Given the description of an element on the screen output the (x, y) to click on. 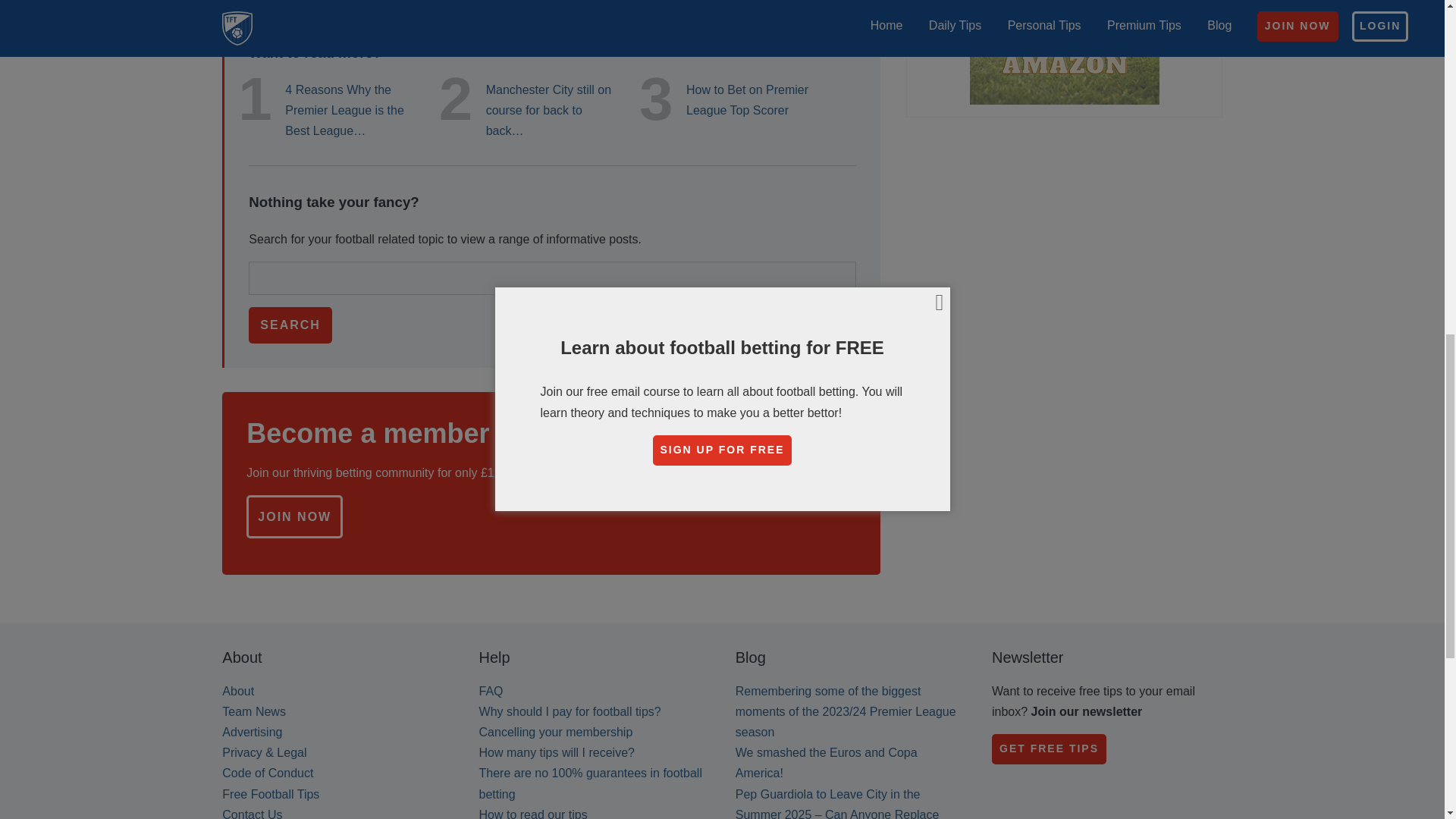
We smashed the Euros and Copa America! (826, 762)
FAQ (491, 690)
Advertising (252, 731)
Code of Conduct (267, 772)
How to read our tips (533, 813)
Free Football Tips (270, 793)
Why should I pay for football tips? (570, 711)
Search (289, 325)
How many tips will I receive? (556, 752)
Cancelling your membership (556, 731)
How to Bet on Premier League Top Scorer (752, 99)
Contact Us (252, 813)
About (237, 690)
JOIN NOW (294, 516)
Team News (253, 711)
